Given the description of an element on the screen output the (x, y) to click on. 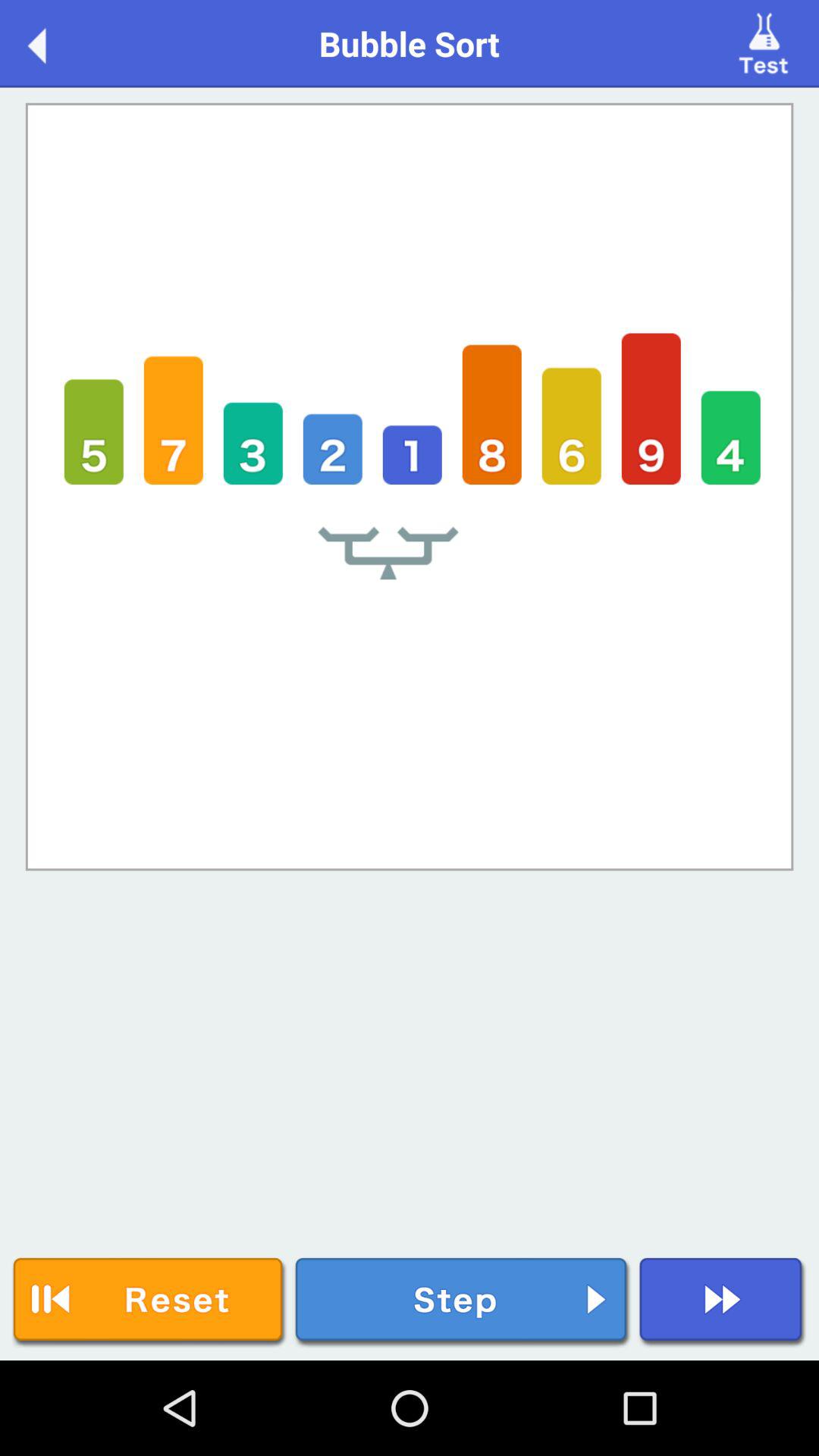
next step (462, 1302)
